Given the description of an element on the screen output the (x, y) to click on. 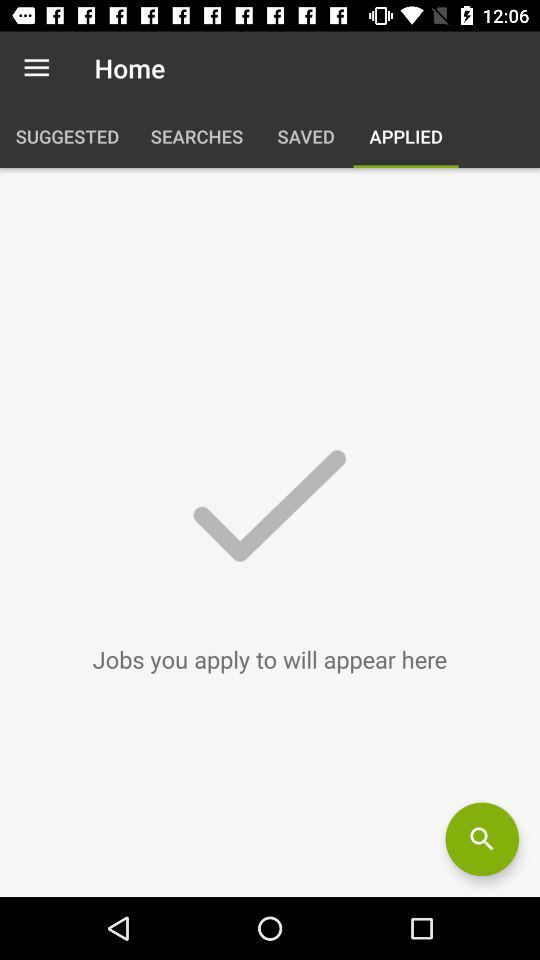
search button (482, 839)
